Given the description of an element on the screen output the (x, y) to click on. 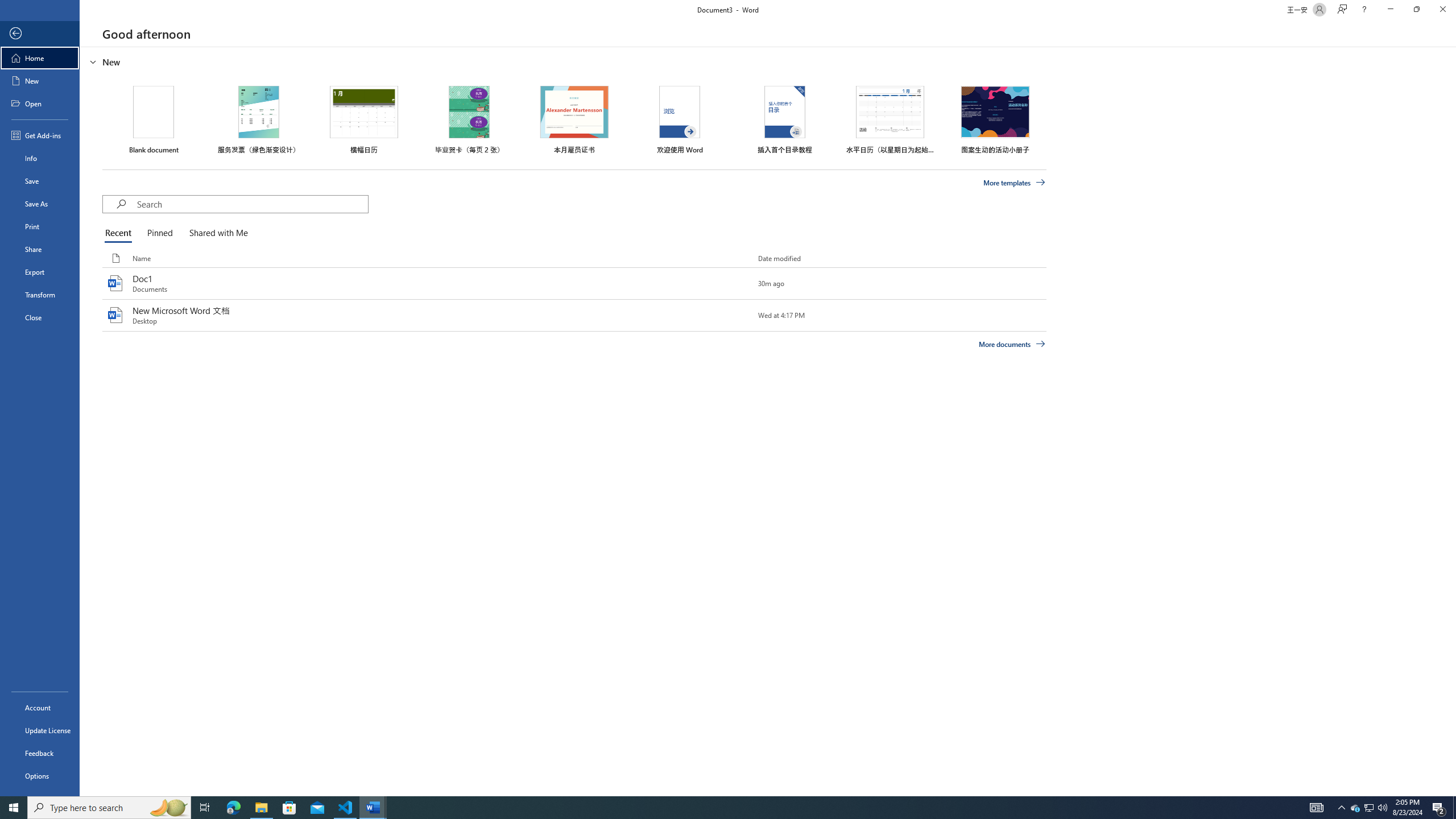
Options (40, 775)
Close (40, 317)
Blank document (153, 119)
Pinned (159, 233)
New (40, 80)
Recent (119, 233)
Shared with Me (215, 233)
Close (1442, 9)
Transform (40, 294)
Home (40, 57)
Share (40, 248)
Pin this item to the list (739, 314)
